Given the description of an element on the screen output the (x, y) to click on. 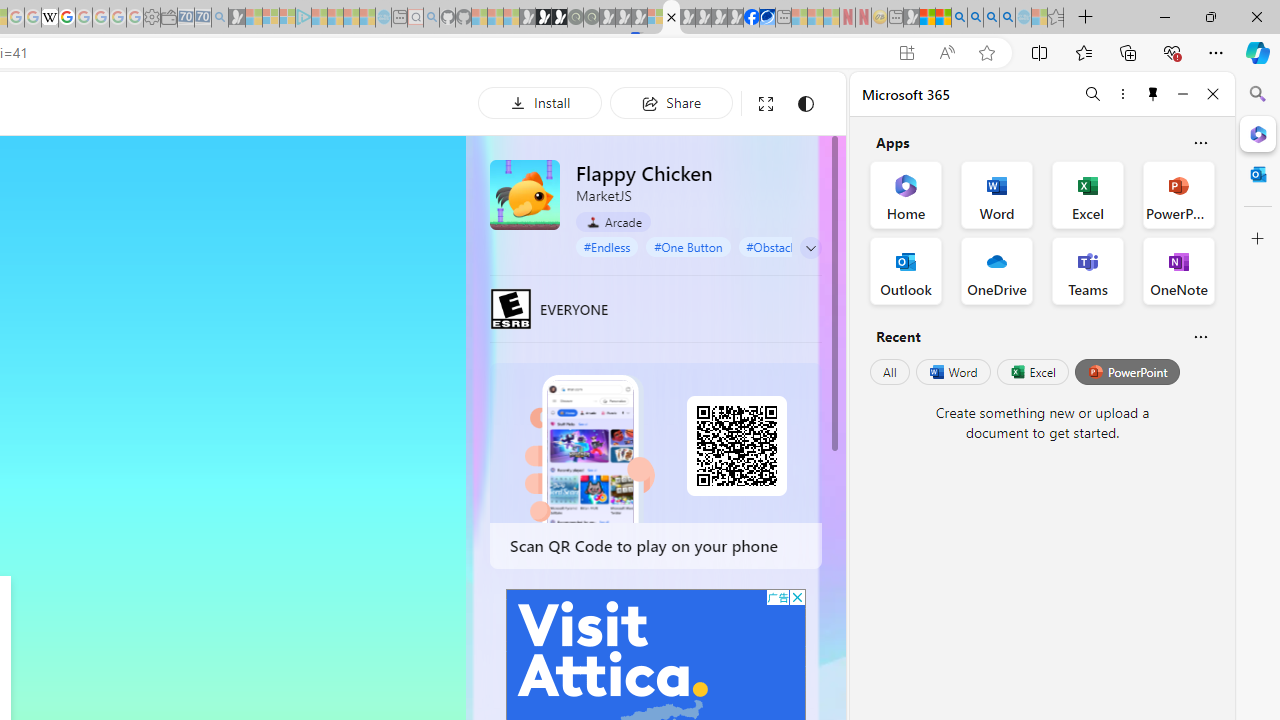
Arcade (613, 222)
AutomationID: cbb (797, 596)
Microsoft Start Gaming - Sleeping (236, 17)
All (890, 372)
Outlook Office App (906, 270)
AirNow.gov (767, 17)
Word (952, 372)
